Given the description of an element on the screen output the (x, y) to click on. 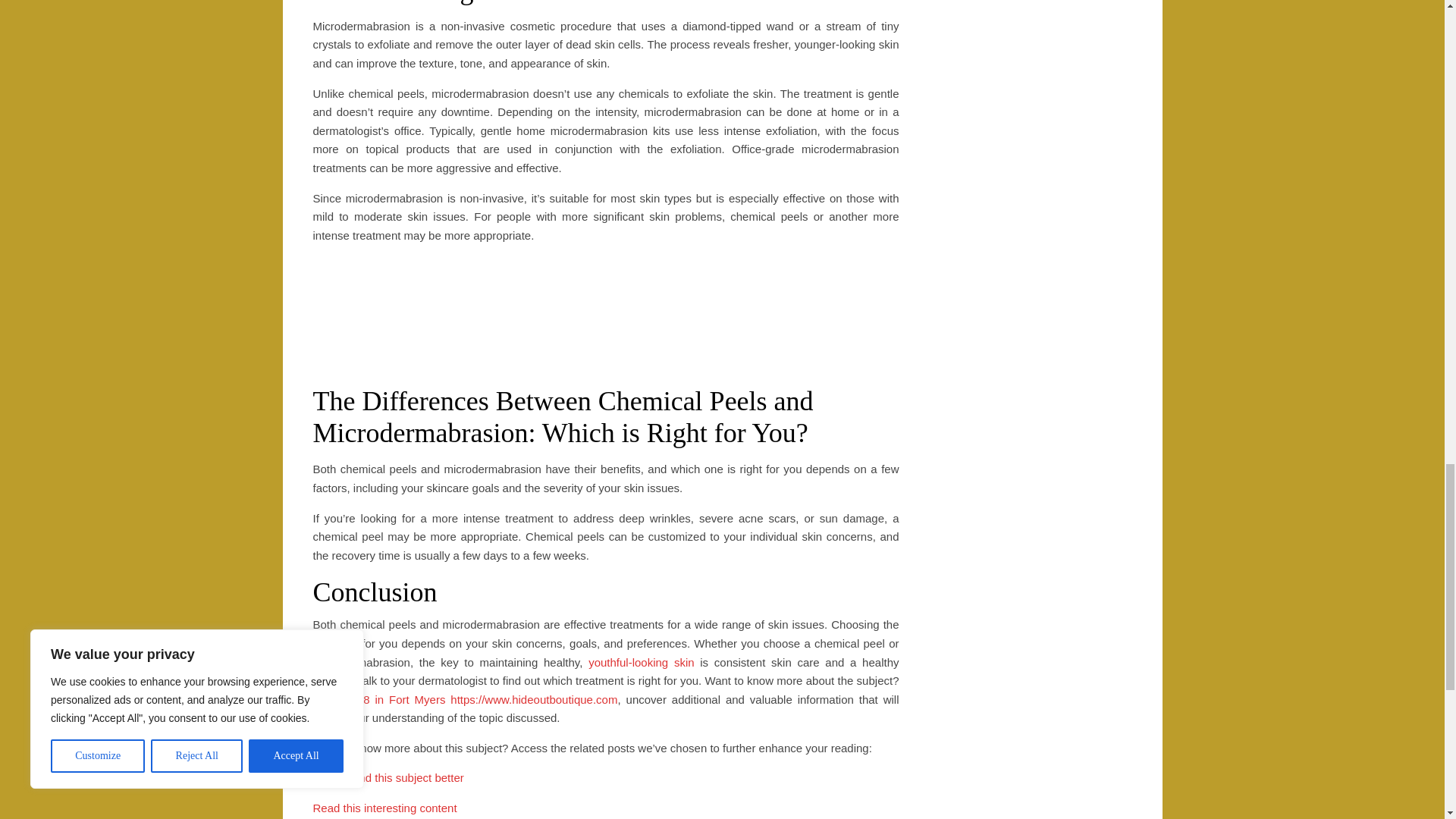
youthful-looking skin (641, 662)
Read this interesting content (385, 807)
Understand this subject better (388, 777)
